Given the description of an element on the screen output the (x, y) to click on. 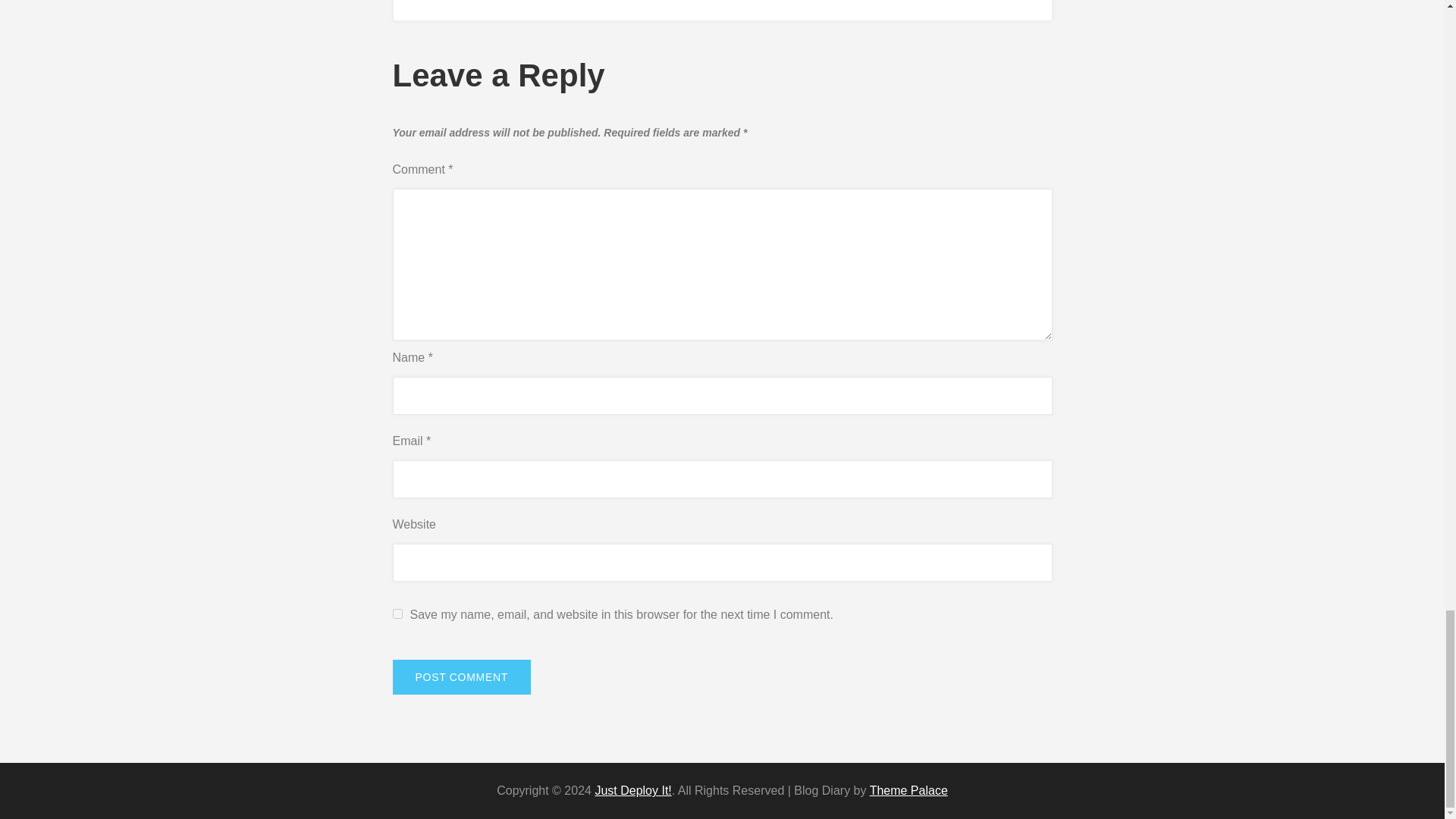
Post Comment (462, 677)
Just Deploy It! (632, 789)
Theme Palace (908, 789)
yes (398, 614)
Post Comment (462, 677)
